Given the description of an element on the screen output the (x, y) to click on. 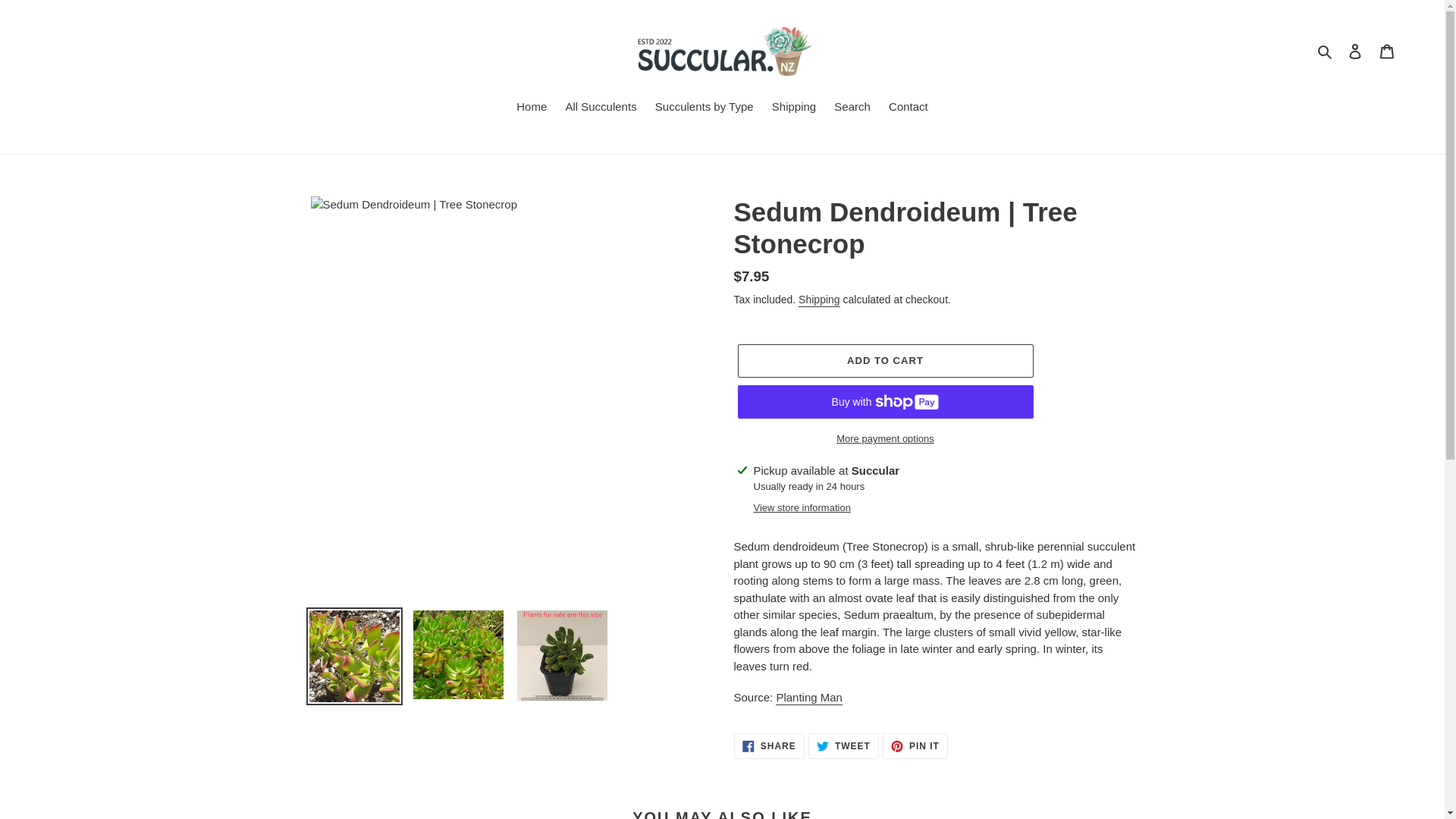
Log in (1355, 51)
Planting Man (809, 698)
All Succulents (600, 107)
Search (852, 107)
Shipping (794, 107)
View store information (802, 507)
Cart (1387, 51)
More payment options (914, 746)
Search (884, 438)
Shipping (1326, 50)
Home (818, 300)
ADD TO CART (843, 746)
